Given the description of an element on the screen output the (x, y) to click on. 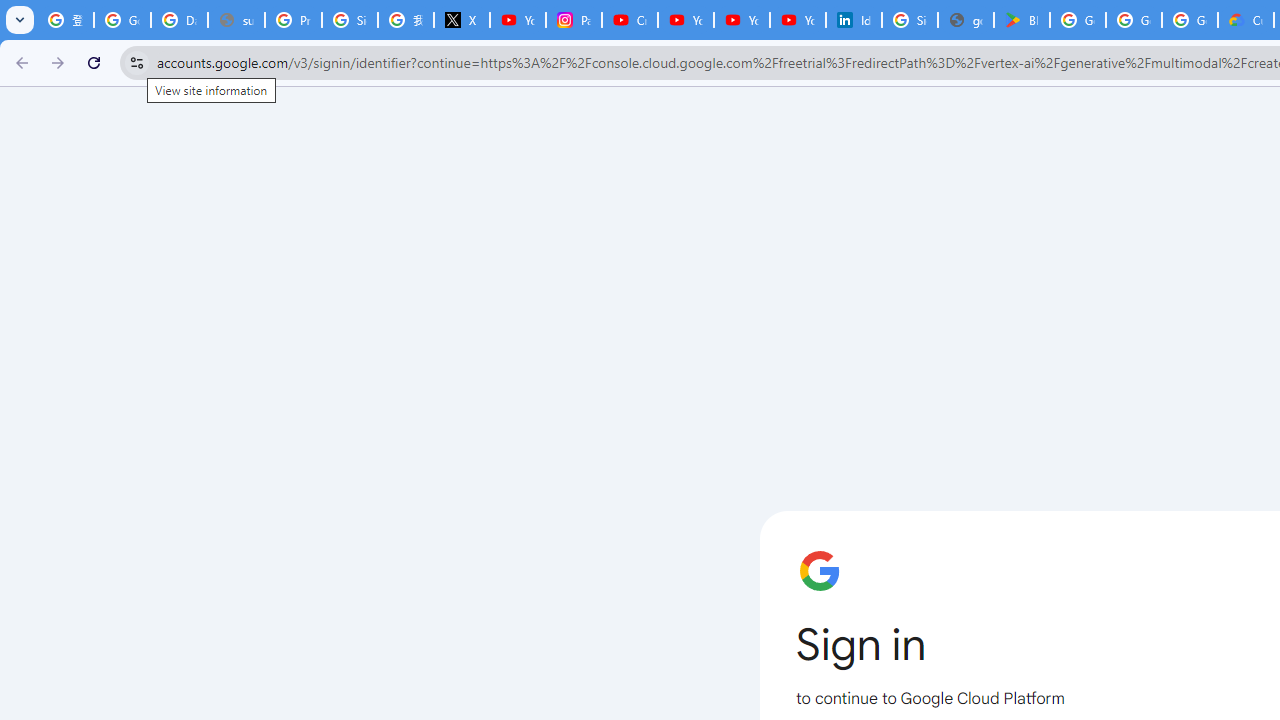
Privacy Help Center - Policies Help (293, 20)
Sign in - Google Accounts (909, 20)
YouTube Culture & Trends - YouTube Top 10, 2021 (797, 20)
YouTube Culture & Trends - YouTube Top 10, 2021 (742, 20)
Google Workspace - Specific Terms (1190, 20)
YouTube Content Monetization Policies - How YouTube Works (518, 20)
